Given the description of an element on the screen output the (x, y) to click on. 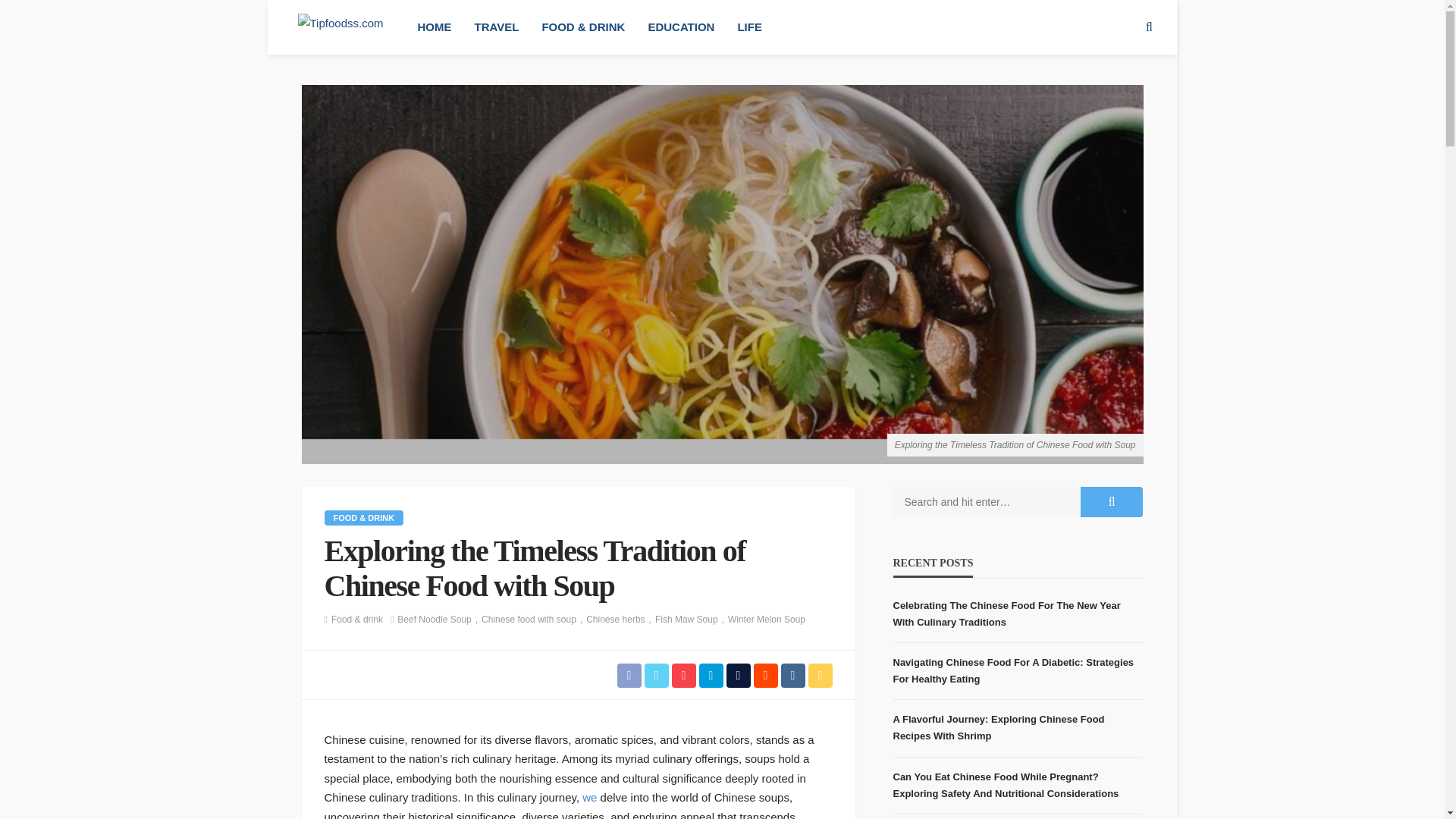
Tipfoodss.com (339, 27)
Winter Melon Soup (766, 619)
EDUCATION (680, 27)
Beef Noodle Soup (439, 619)
Chinese food with soup (533, 619)
we (589, 797)
Winter Melon Soup (766, 619)
HOME (434, 27)
Chinese herbs (620, 619)
TRAVEL (496, 27)
